Given the description of an element on the screen output the (x, y) to click on. 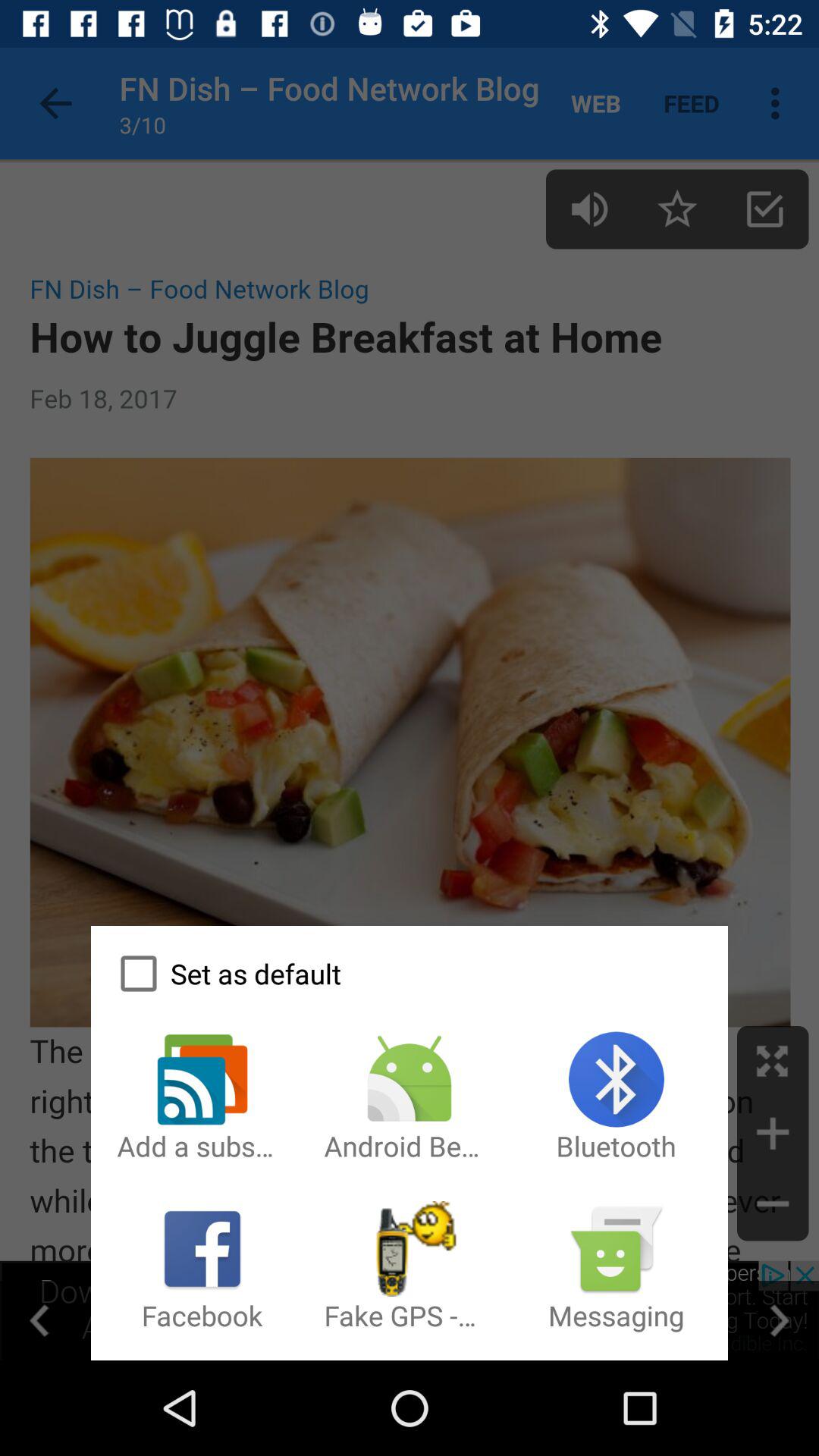
click icon at the center (409, 703)
